Given the description of an element on the screen output the (x, y) to click on. 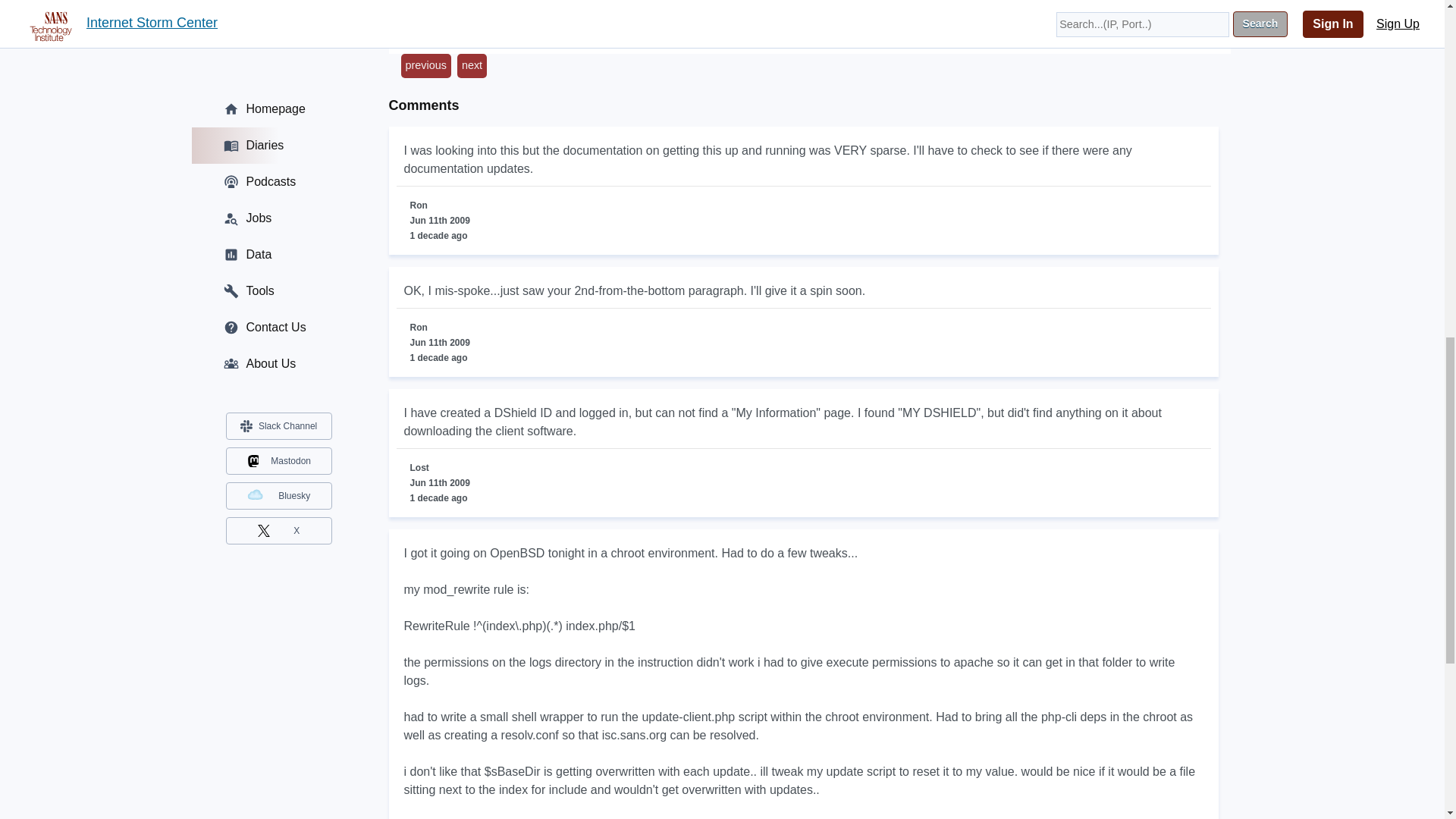
previous (424, 65)
next (471, 65)
